Given the description of an element on the screen output the (x, y) to click on. 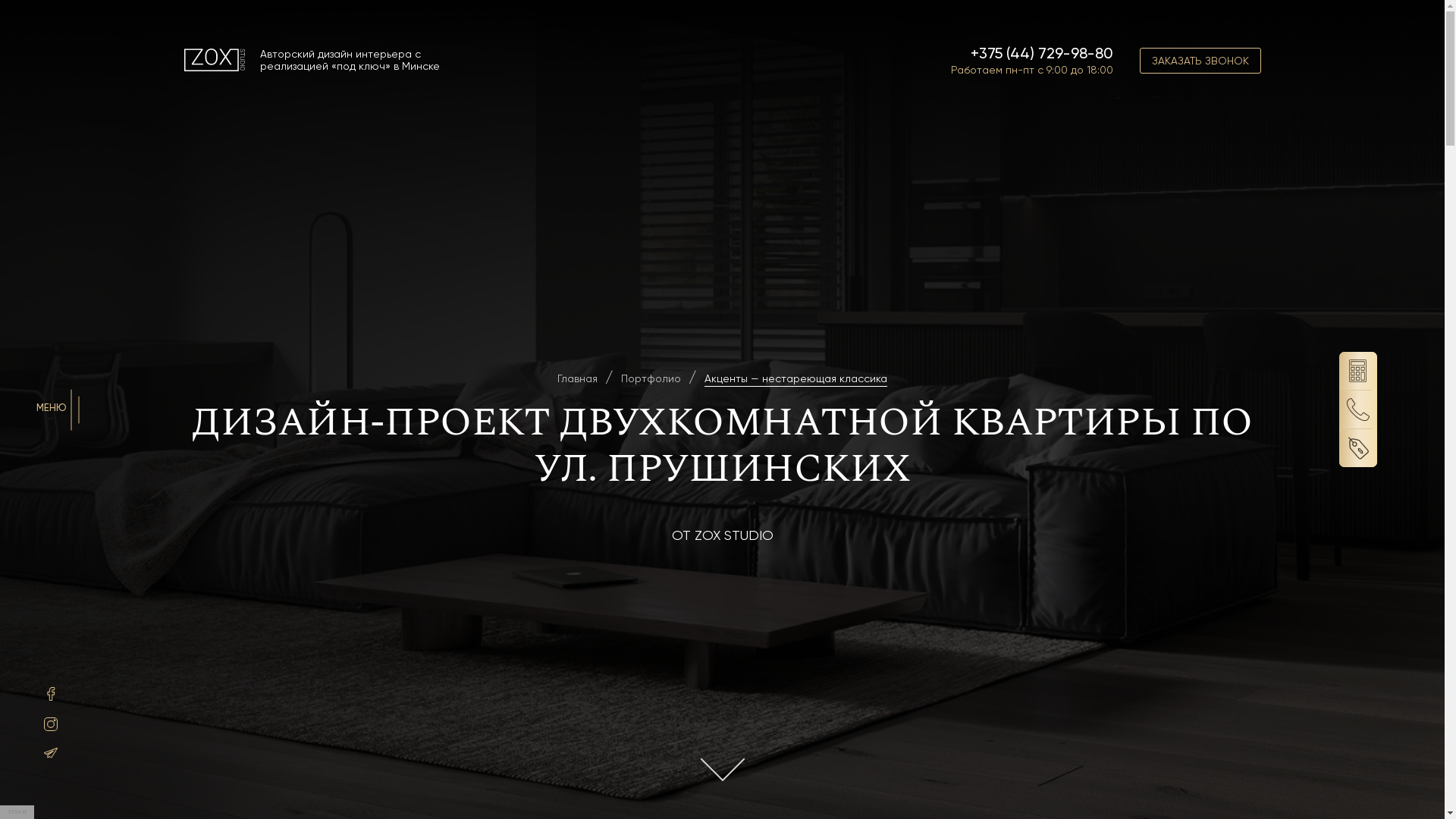
+375 (44) 729-98-80 Element type: text (1041, 52)
